Given the description of an element on the screen output the (x, y) to click on. 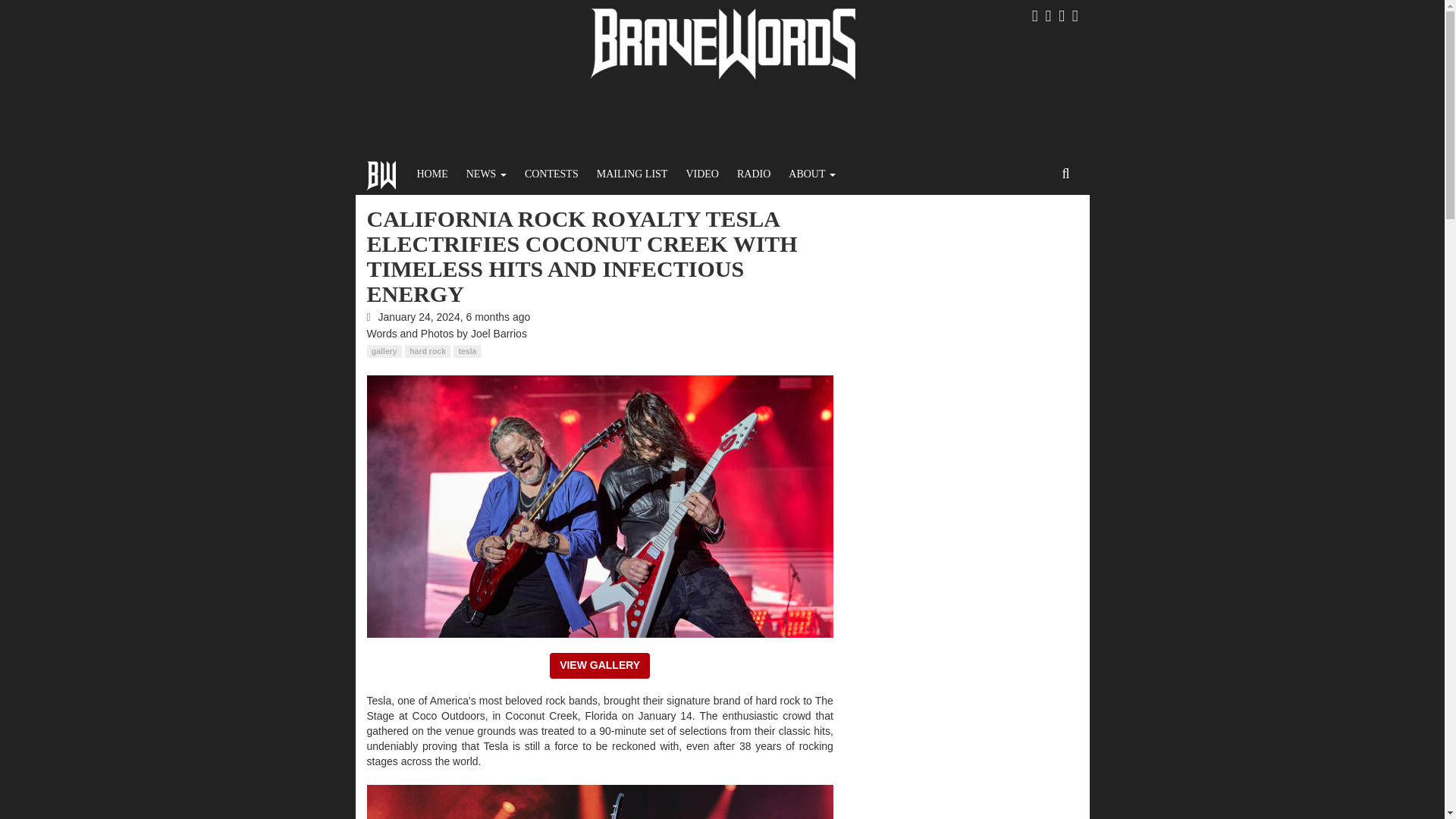
MAILING LIST (632, 174)
ABOUT (811, 174)
3rd party ad content (961, 300)
CONTESTS (551, 174)
RADIO (753, 174)
NEWS (486, 174)
HOME (432, 174)
VIDEO (702, 174)
3rd party ad content (722, 120)
